Given the description of an element on the screen output the (x, y) to click on. 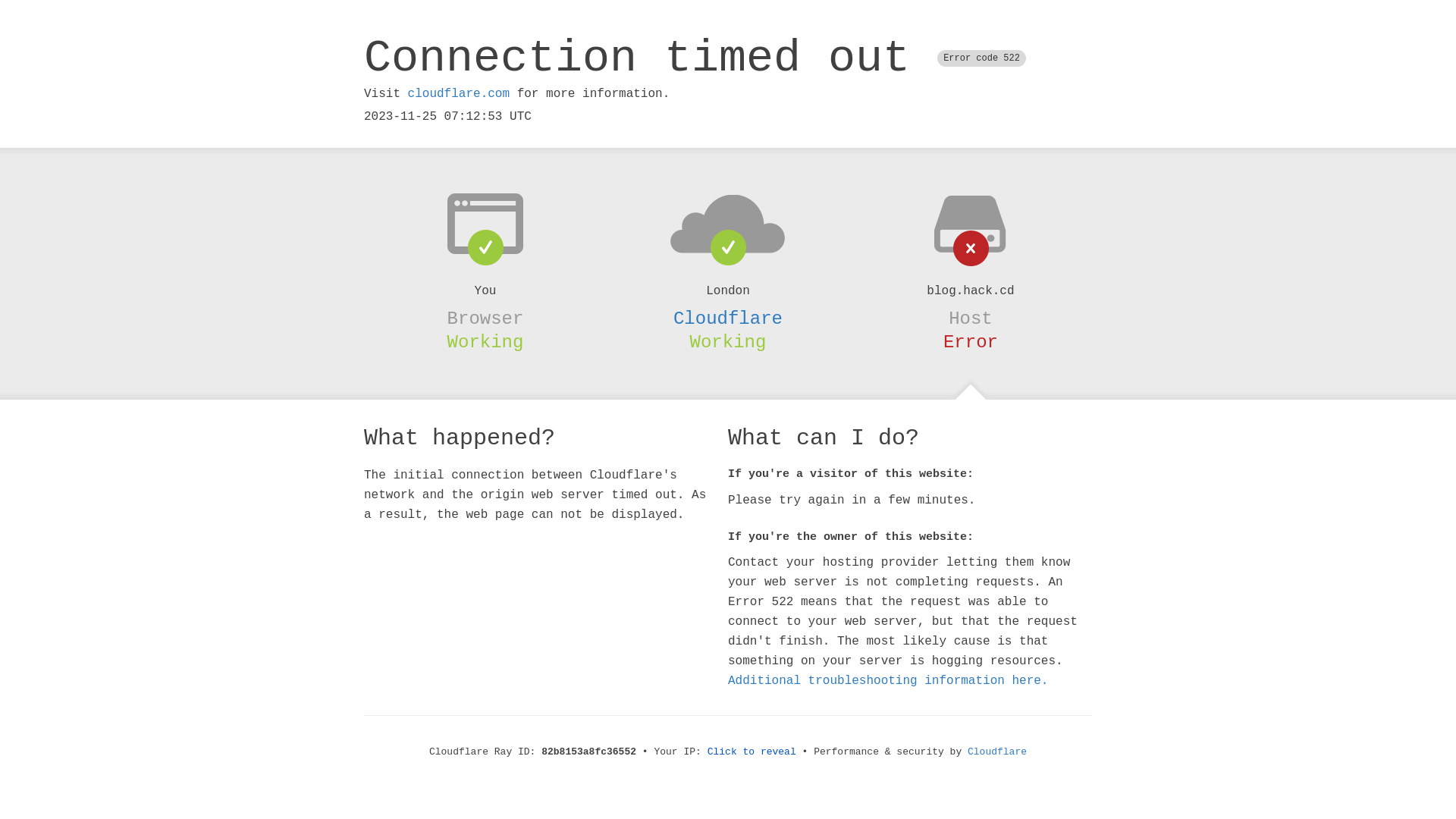
cloudflare.com Element type: text (458, 93)
Cloudflare Element type: text (727, 318)
Additional troubleshooting information here. Element type: text (888, 680)
Cloudflare Element type: text (996, 751)
Click to reveal Element type: text (751, 751)
